Given the description of an element on the screen output the (x, y) to click on. 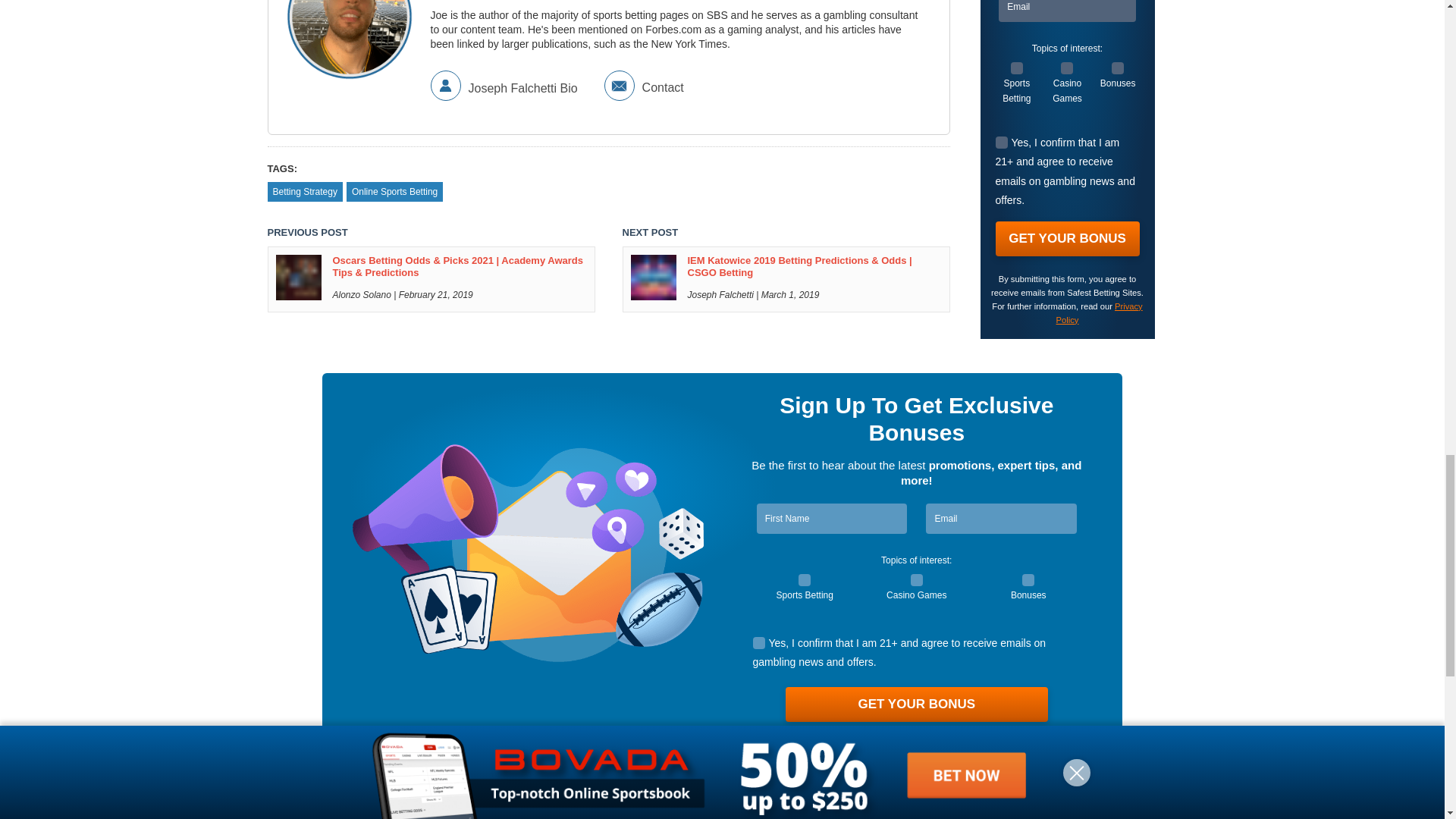
1 (758, 643)
1 (803, 580)
Learn More About Joseph Falchetti (678, 10)
1 (1027, 580)
1 (917, 580)
Get Your Bonus (917, 704)
Safest Betting Sites (424, 804)
Read Our Policy on Privacy (945, 737)
